Given the description of an element on the screen output the (x, y) to click on. 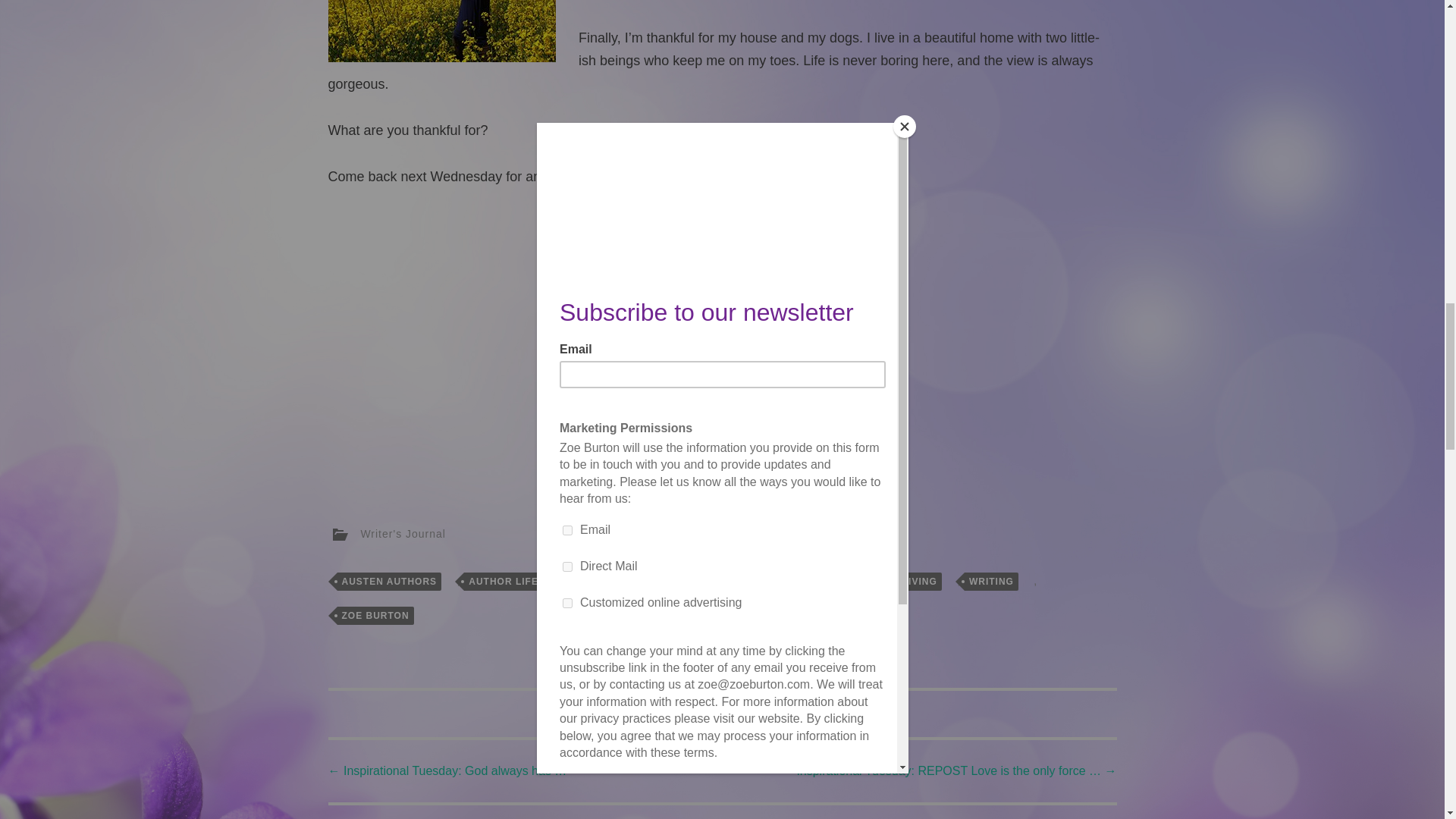
Sign up for my mailing list (722, 464)
KOBO (756, 324)
AUSTEN AUTHORS (388, 581)
THANKFULNESS (784, 581)
Nook (700, 324)
My Patreon Page (721, 417)
Amazon (640, 324)
Writer's Journal (402, 533)
My Gumroad Store (646, 371)
Me at Austen Authors (788, 371)
Apple (810, 324)
AUTHOR LIFE (503, 581)
JOURNAL (685, 581)
THANKSGIVING (897, 581)
ZOE BURTON (374, 615)
